Given the description of an element on the screen output the (x, y) to click on. 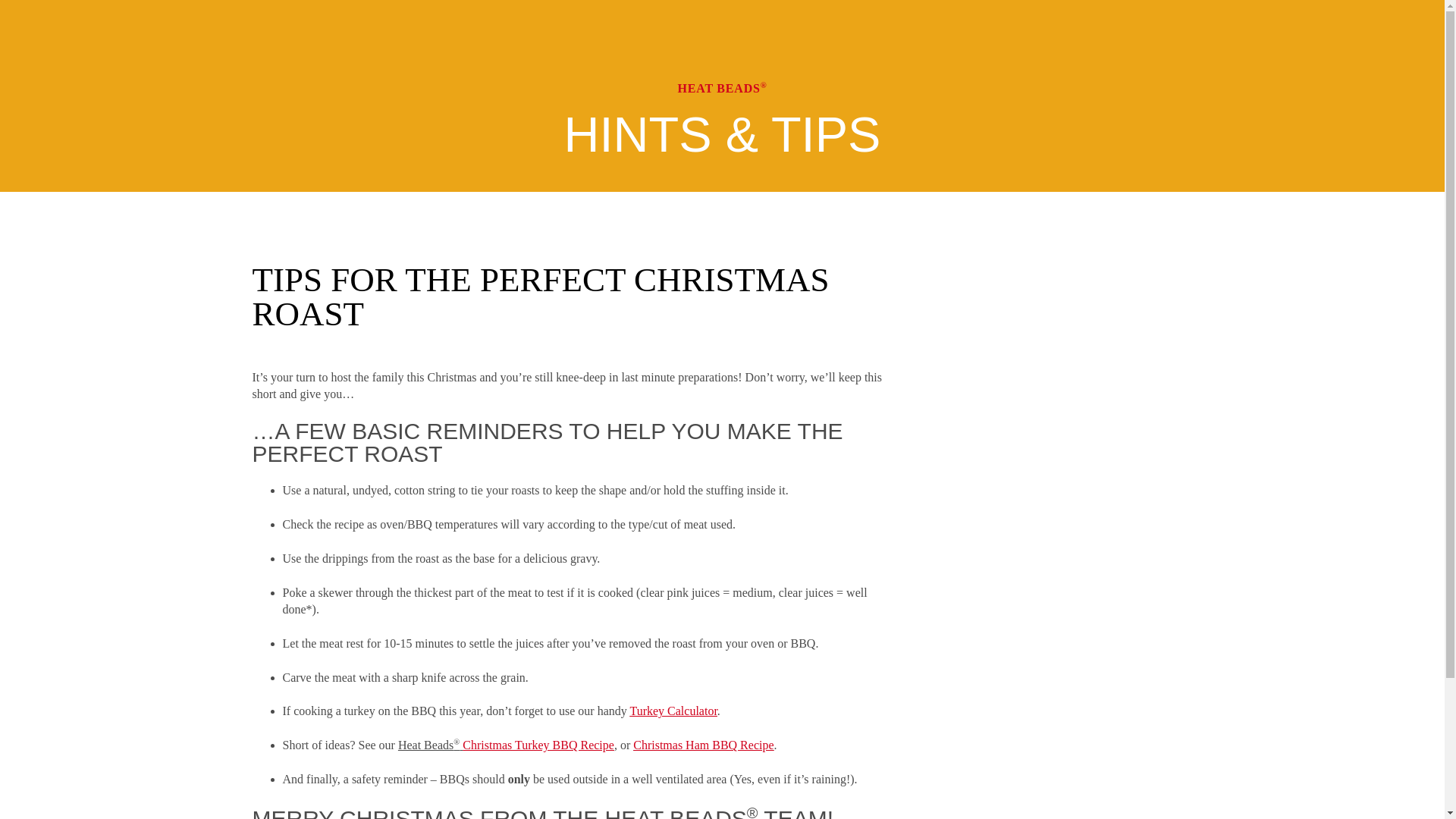
Christmas Turkey BBQ Recipe (538, 744)
Christmas Ham BBQ Recipe (703, 744)
Turkey Calculator (672, 710)
